Given the description of an element on the screen output the (x, y) to click on. 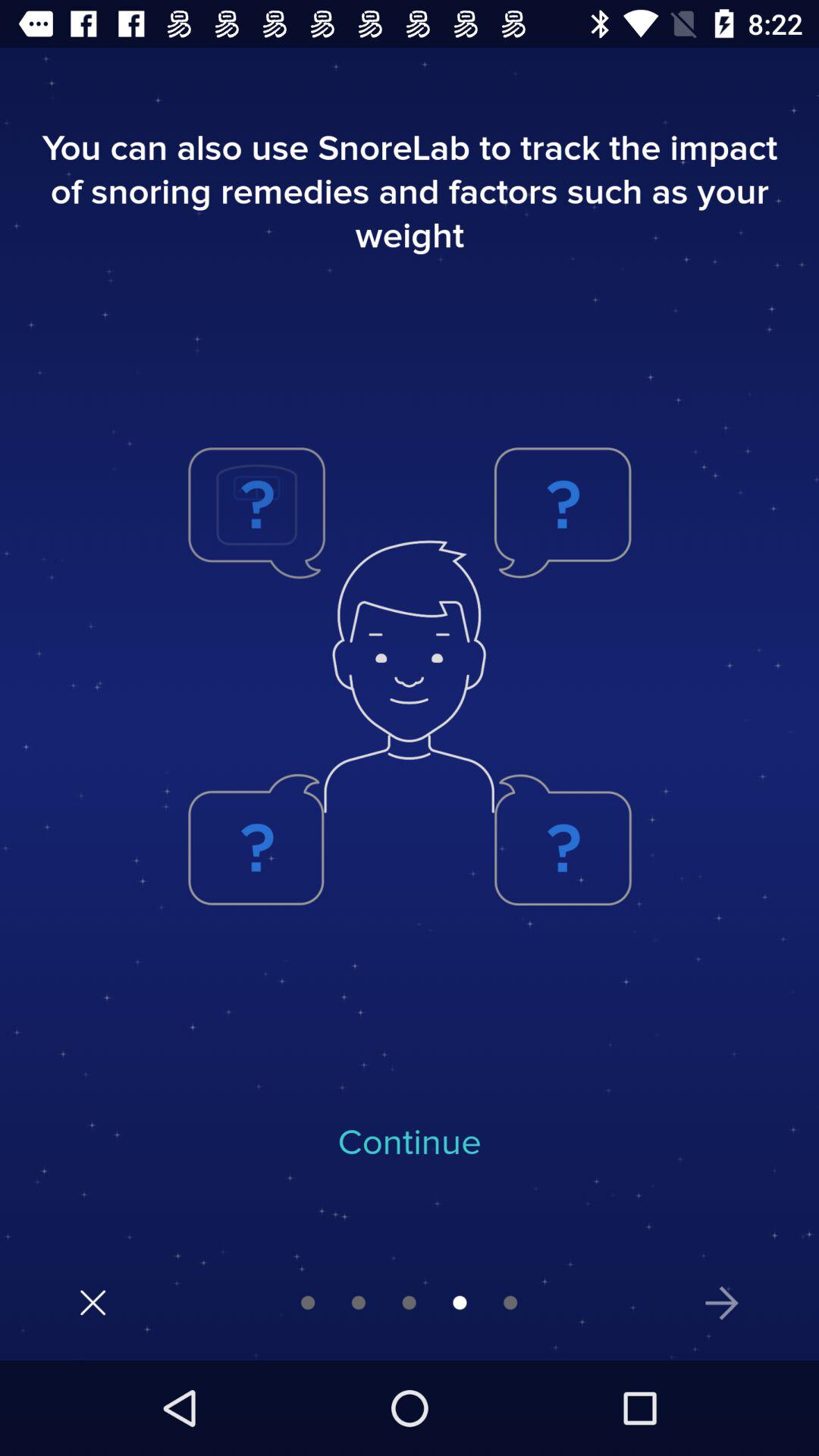
continue to next page (721, 1302)
